Given the description of an element on the screen output the (x, y) to click on. 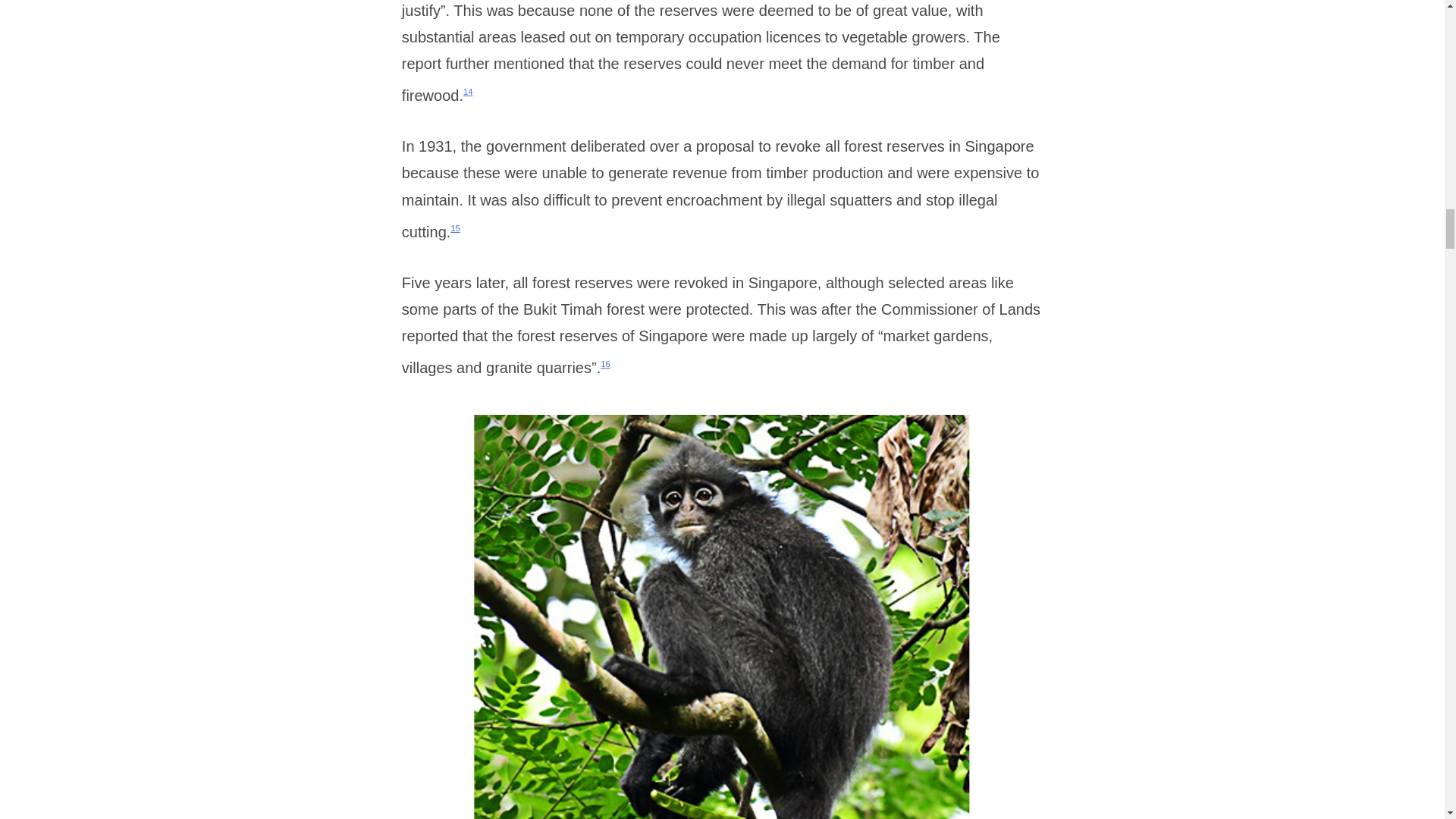
16 (604, 363)
15 (454, 227)
14 (468, 91)
